Given the description of an element on the screen output the (x, y) to click on. 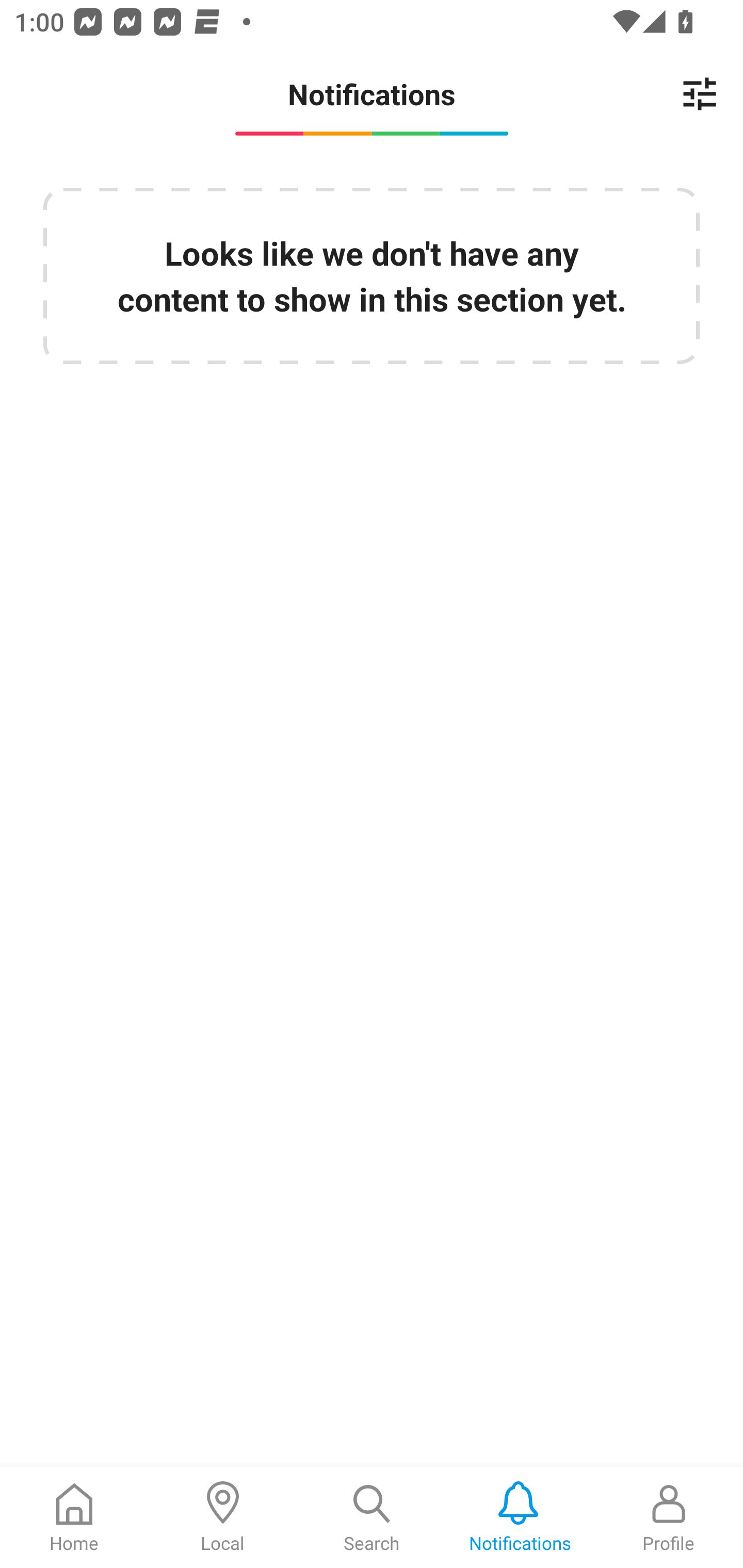
Notification Settings (699, 93)
Home (74, 1517)
Local (222, 1517)
Search (371, 1517)
Profile (668, 1517)
